Given the description of an element on the screen output the (x, y) to click on. 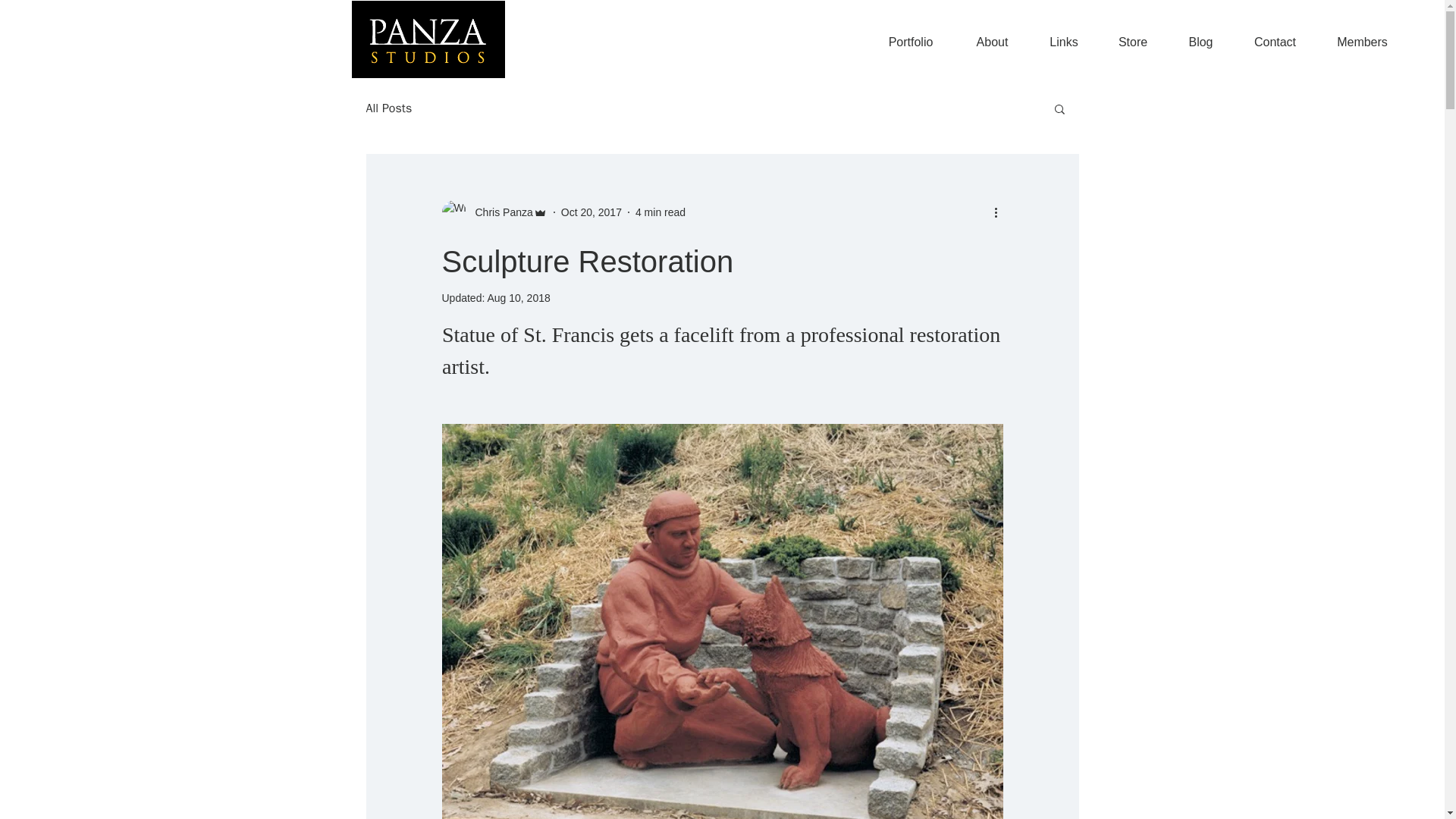
Aug 10, 2018 (518, 297)
Contact (1274, 42)
All Posts (388, 107)
Blog (1200, 42)
Members (1361, 42)
About (992, 42)
Chris Panza (494, 211)
Oct 20, 2017 (590, 212)
Links (1063, 42)
Store (1132, 42)
4 min read (659, 212)
Portfolio (910, 42)
Chris Panza (498, 212)
